Given the description of an element on the screen output the (x, y) to click on. 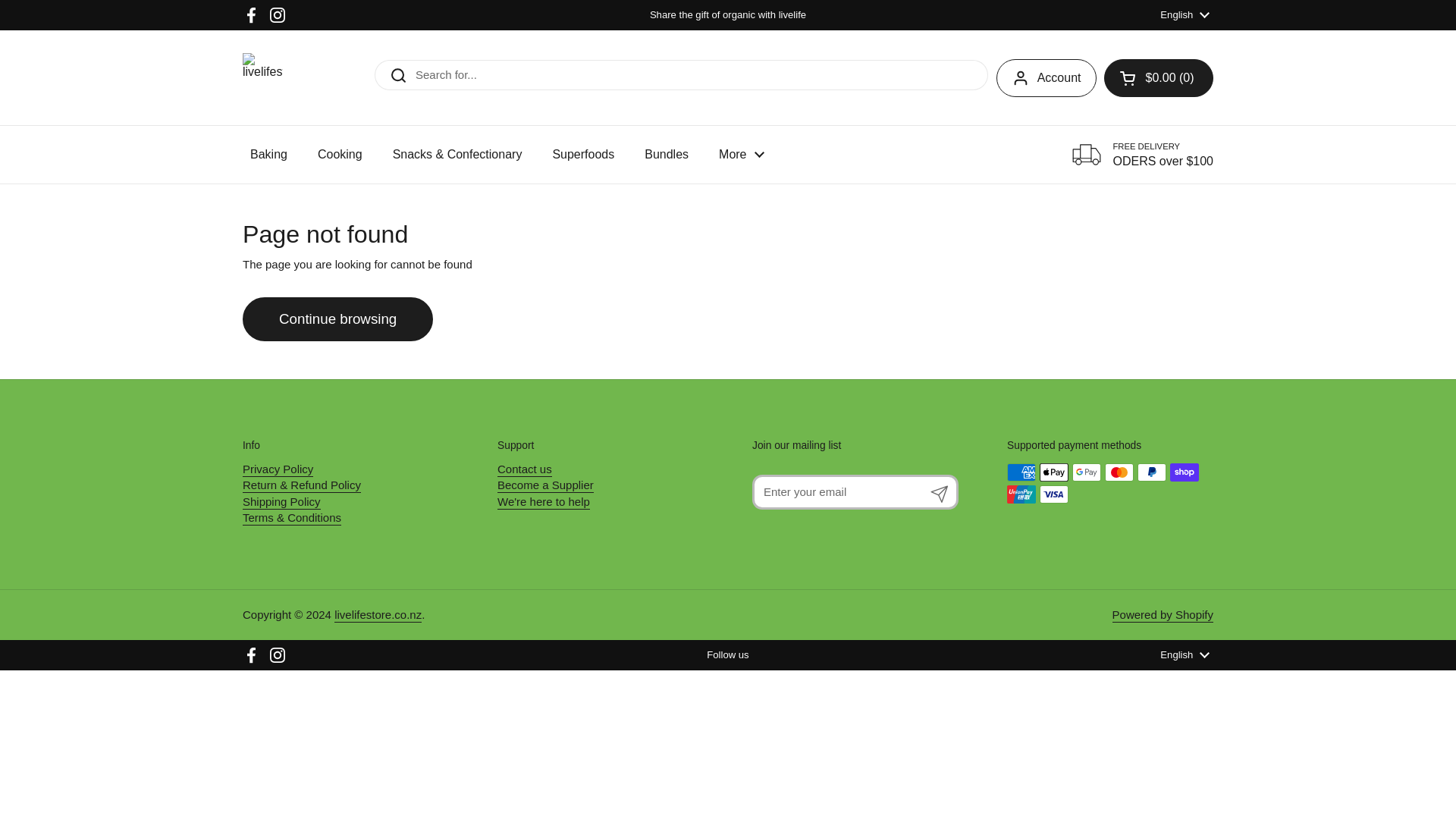
Instagram (276, 14)
Superfoods (582, 154)
Open cart (1157, 77)
Account (1046, 77)
Baking (268, 154)
English (1184, 14)
livelifestore.co.nz (262, 77)
Facebook (251, 14)
Cooking (339, 154)
More (740, 154)
Bundles (665, 154)
Share the gift of organic with livelife (727, 14)
